Given the description of an element on the screen output the (x, y) to click on. 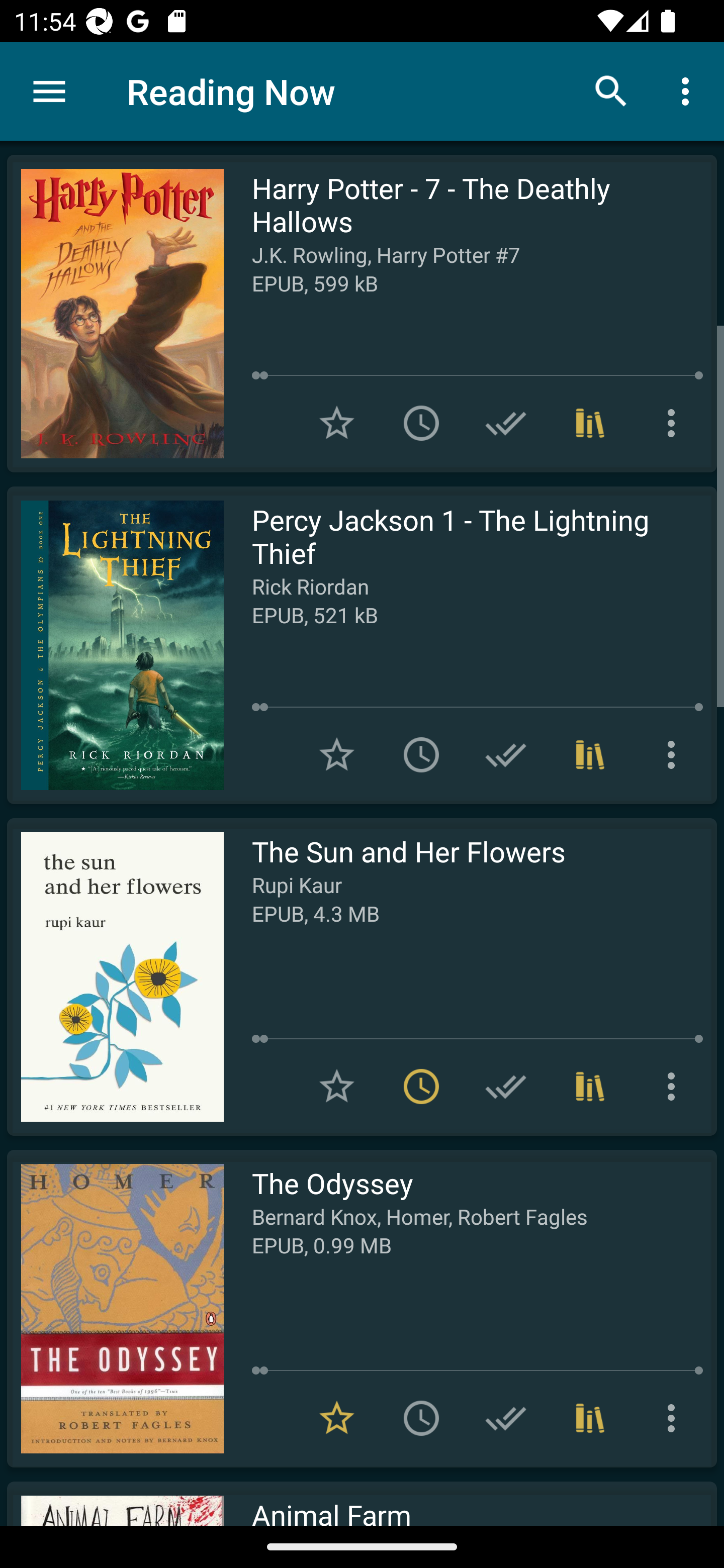
Menu (49, 91)
Search books & documents (611, 90)
More options (688, 90)
Read Harry Potter - 7 - The Deathly Hallows (115, 313)
Add to Favorites (336, 423)
Add to To read (421, 423)
Add to Have read (505, 423)
Collections (1) (590, 423)
More options (674, 423)
Read Percy Jackson 1 - The Lightning Thief (115, 645)
Add to Favorites (336, 753)
Add to To read (421, 753)
Add to Have read (505, 753)
Collections (1) (590, 753)
More options (674, 753)
Read The Sun and Her Flowers (115, 976)
Add to Favorites (336, 1086)
Remove from To read (421, 1086)
Add to Have read (505, 1086)
Collections (1) (590, 1086)
More options (674, 1086)
Read The Odyssey (115, 1308)
Remove from Favorites (336, 1417)
Add to To read (421, 1417)
Add to Have read (505, 1417)
Collections (1) (590, 1417)
More options (674, 1417)
